Given the description of an element on the screen output the (x, y) to click on. 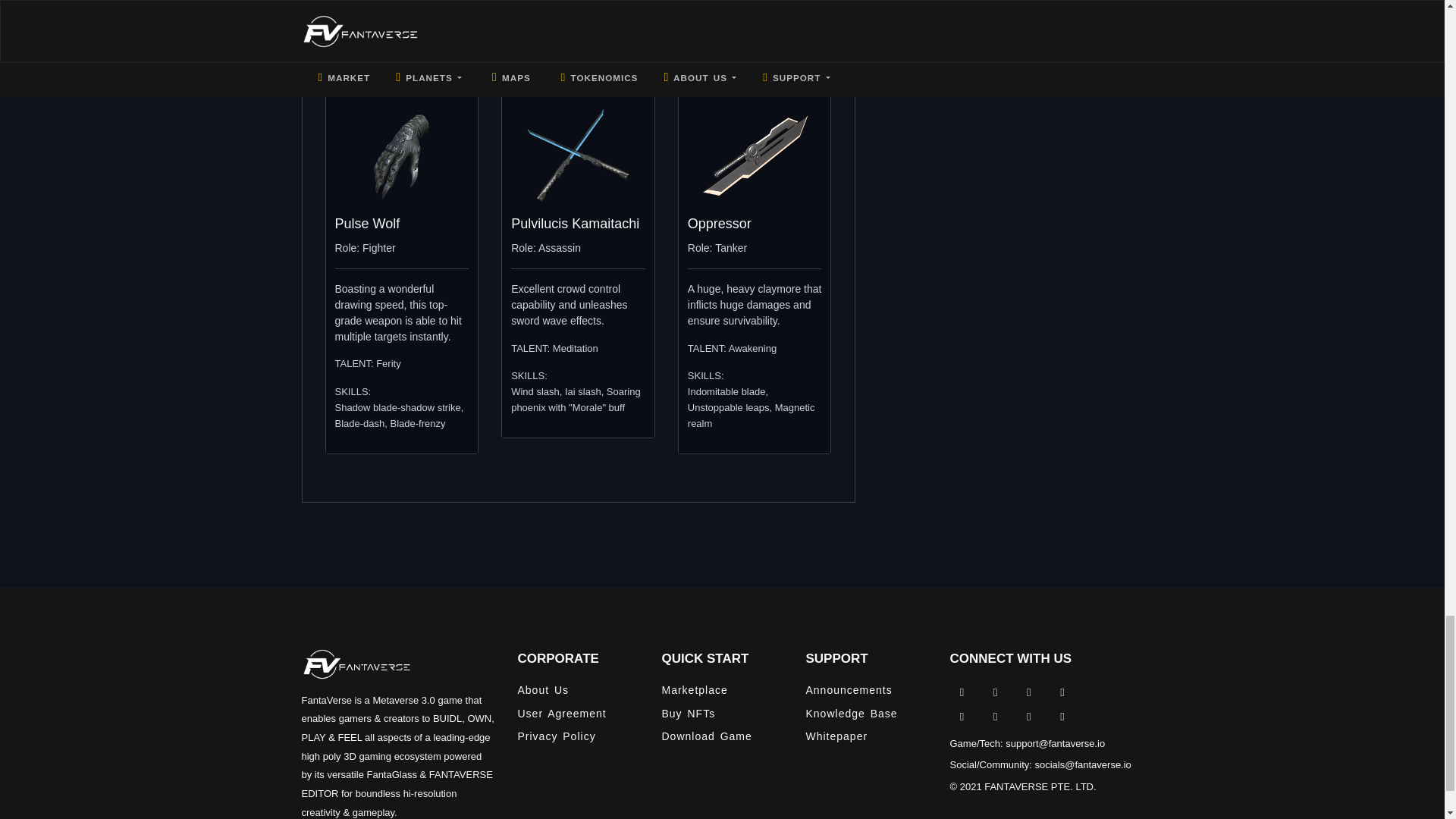
Announcements (866, 690)
User Agreement (578, 713)
Marketplace (722, 690)
Privacy Policy (578, 736)
Knowledge Base (866, 713)
Buy NFTs (722, 713)
About Us (578, 690)
Whitepaper (866, 736)
Download Game (722, 736)
